Given the description of an element on the screen output the (x, y) to click on. 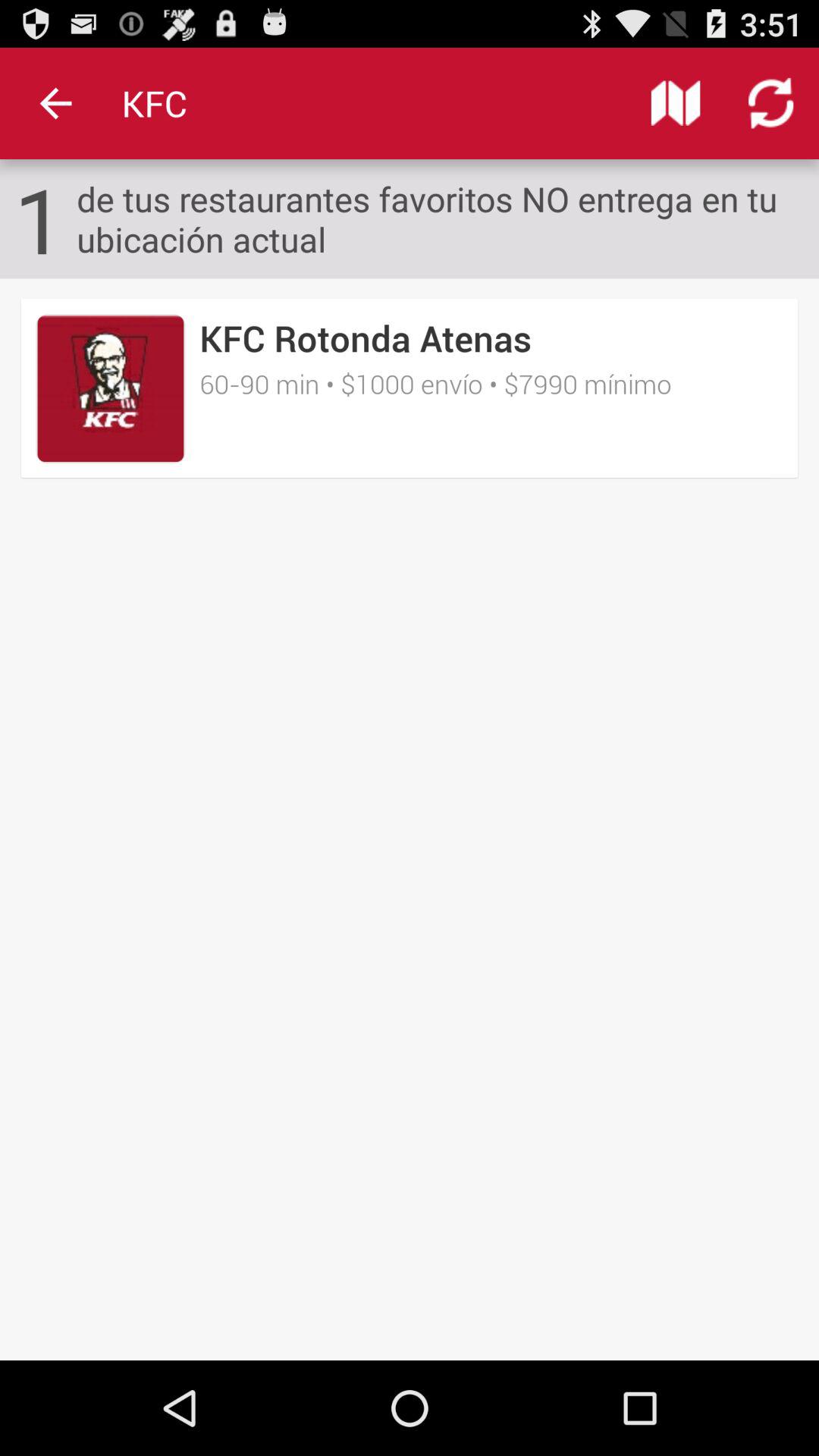
tap item to the right of the 1 item (447, 218)
